Given the description of an element on the screen output the (x, y) to click on. 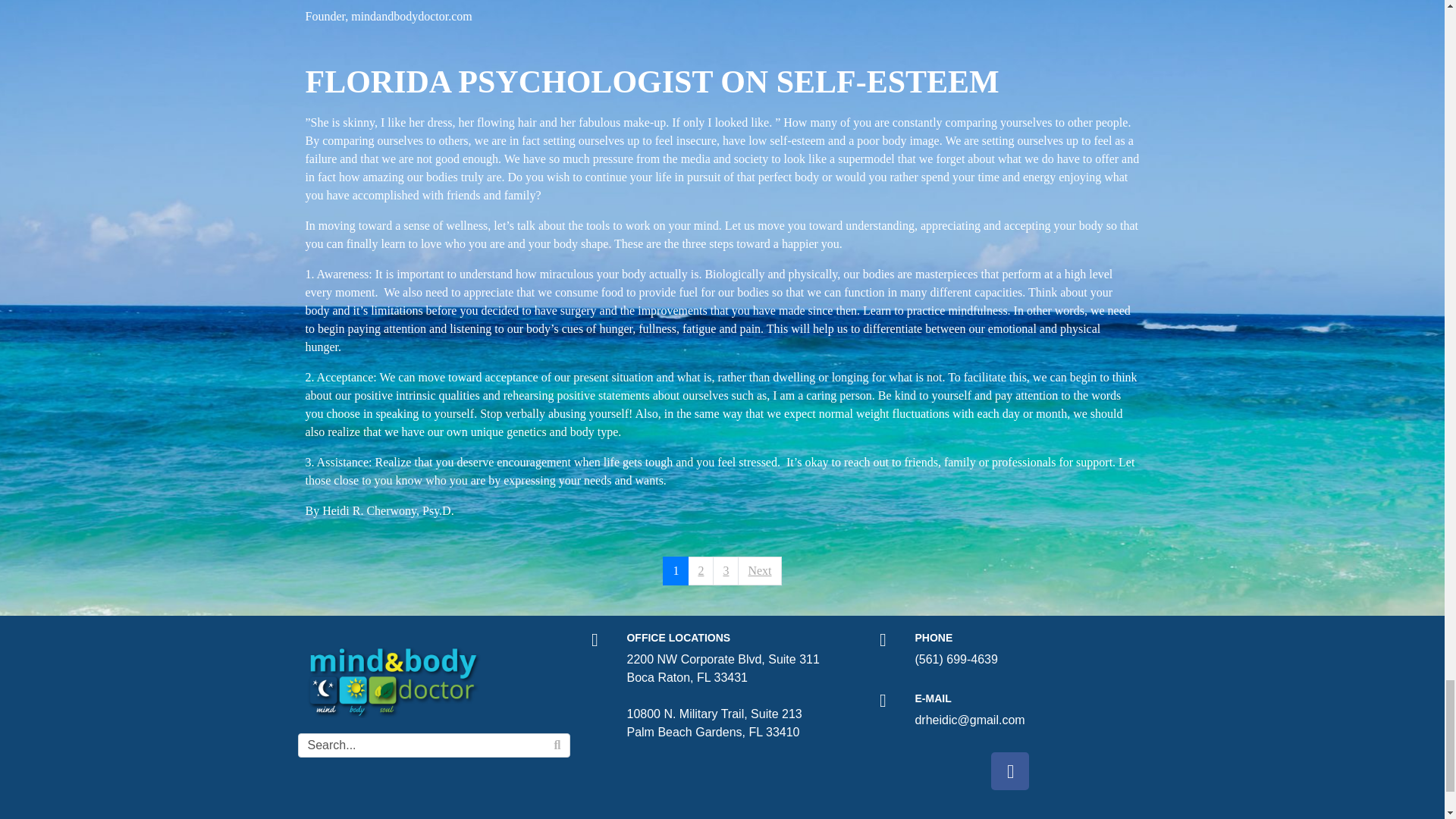
FLORIDA PSYCHOLOGIST ON SELF-ESTEEM (651, 81)
